Given the description of an element on the screen output the (x, y) to click on. 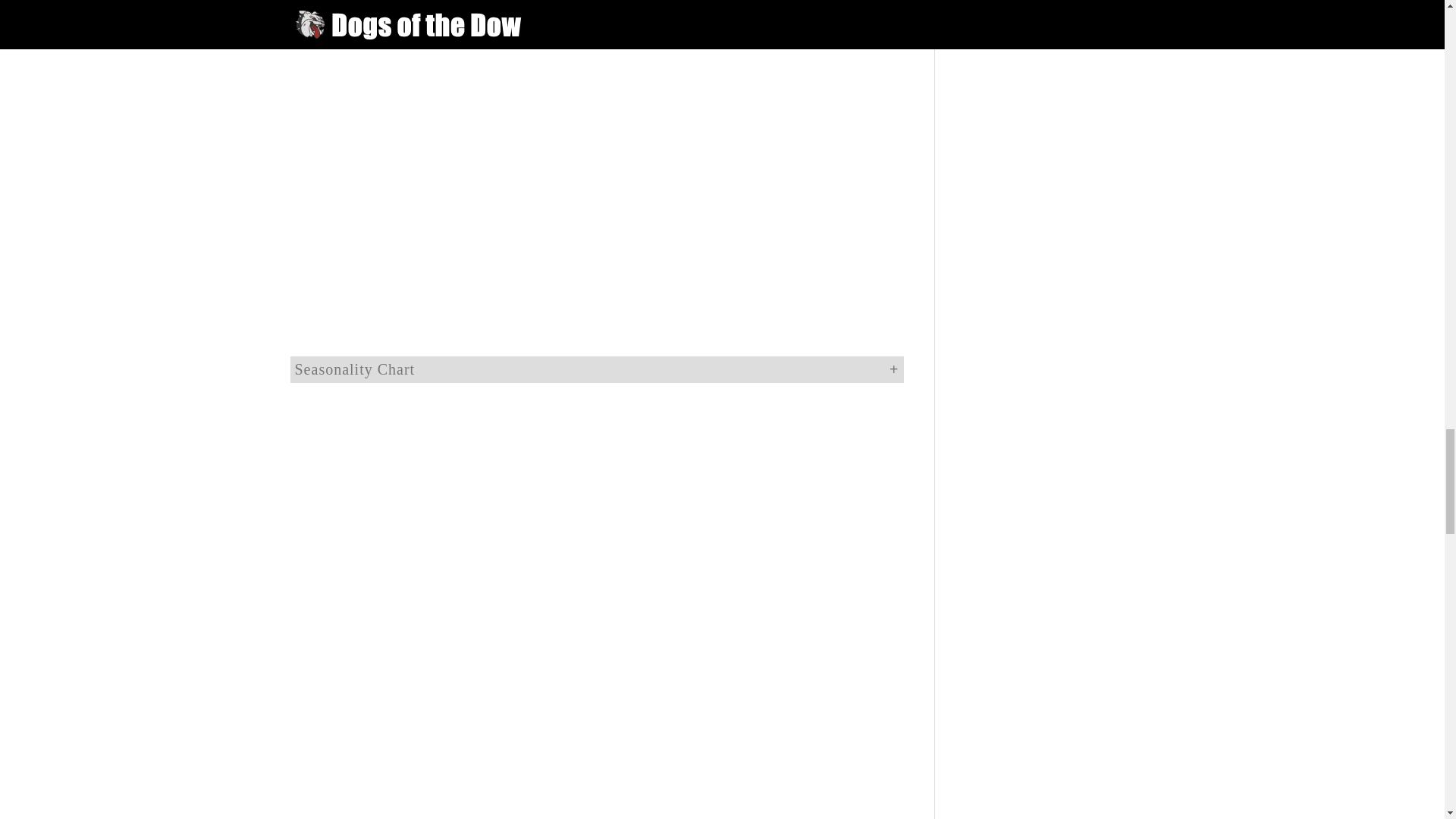
Seasonality Chart (595, 369)
